Given the description of an element on the screen output the (x, y) to click on. 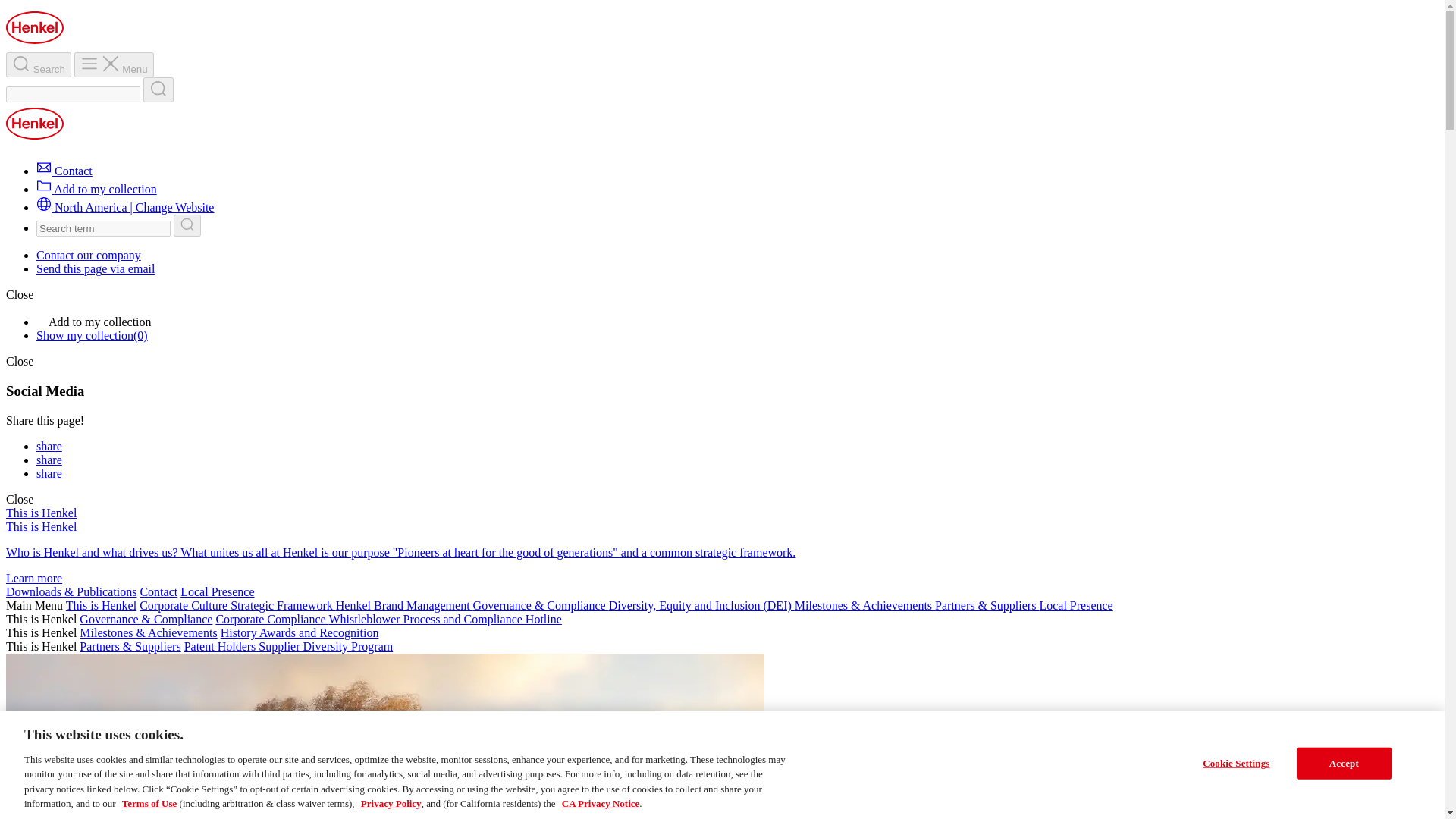
Add to my collection (96, 188)
Contact (158, 591)
Whistleblower Process and Compliance Hotline (444, 618)
Henkel Brand (371, 604)
Share on LinkedIn (49, 459)
Local Presence (216, 591)
History (240, 632)
Awards and Recognition (318, 632)
Share on Telegram (49, 472)
Management (439, 604)
Send this page via email (95, 268)
Close (19, 360)
Contact (64, 170)
Local Presence (1075, 604)
Menu (114, 64)
